Given the description of an element on the screen output the (x, y) to click on. 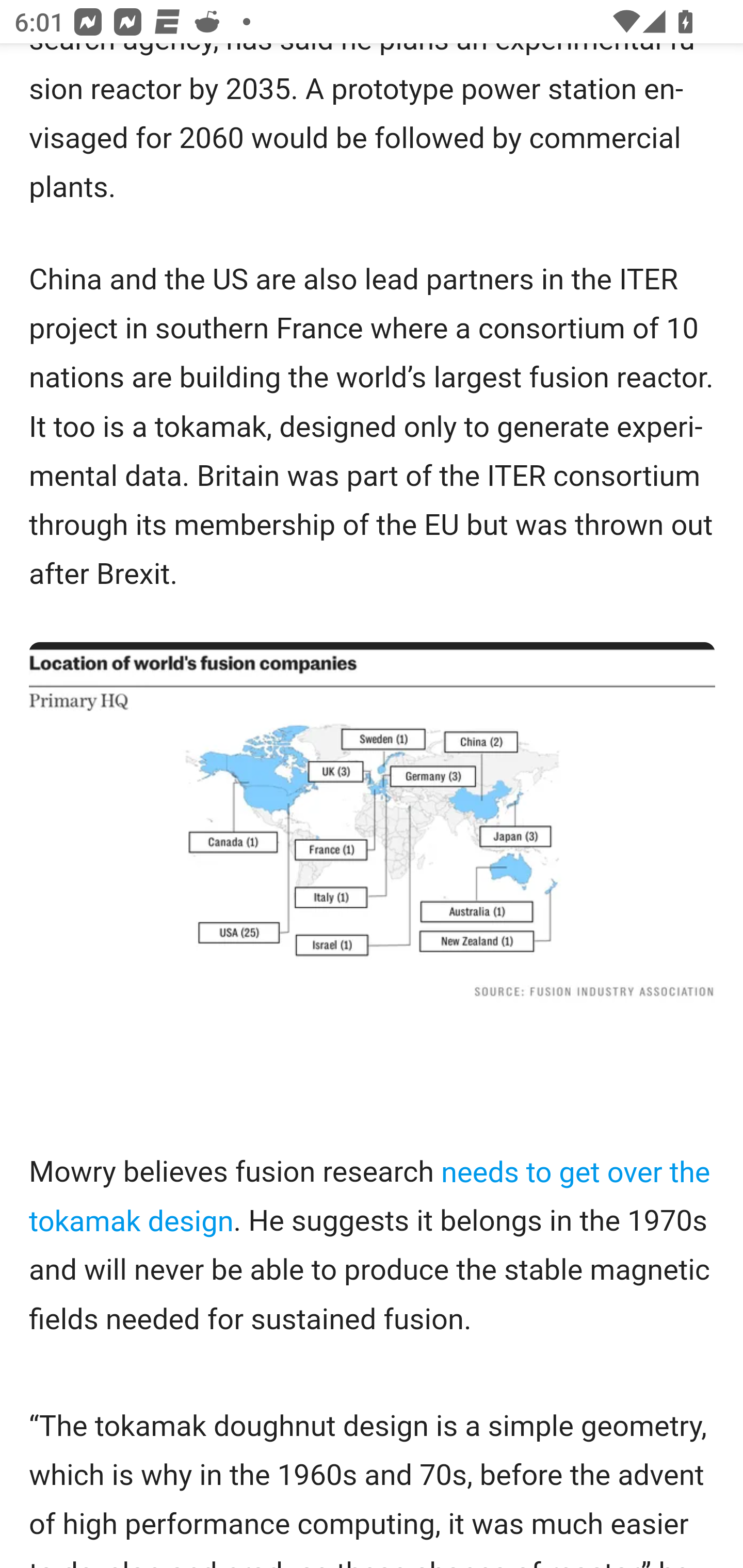
needs to get over the tokamak design (369, 1195)
